Given the description of an element on the screen output the (x, y) to click on. 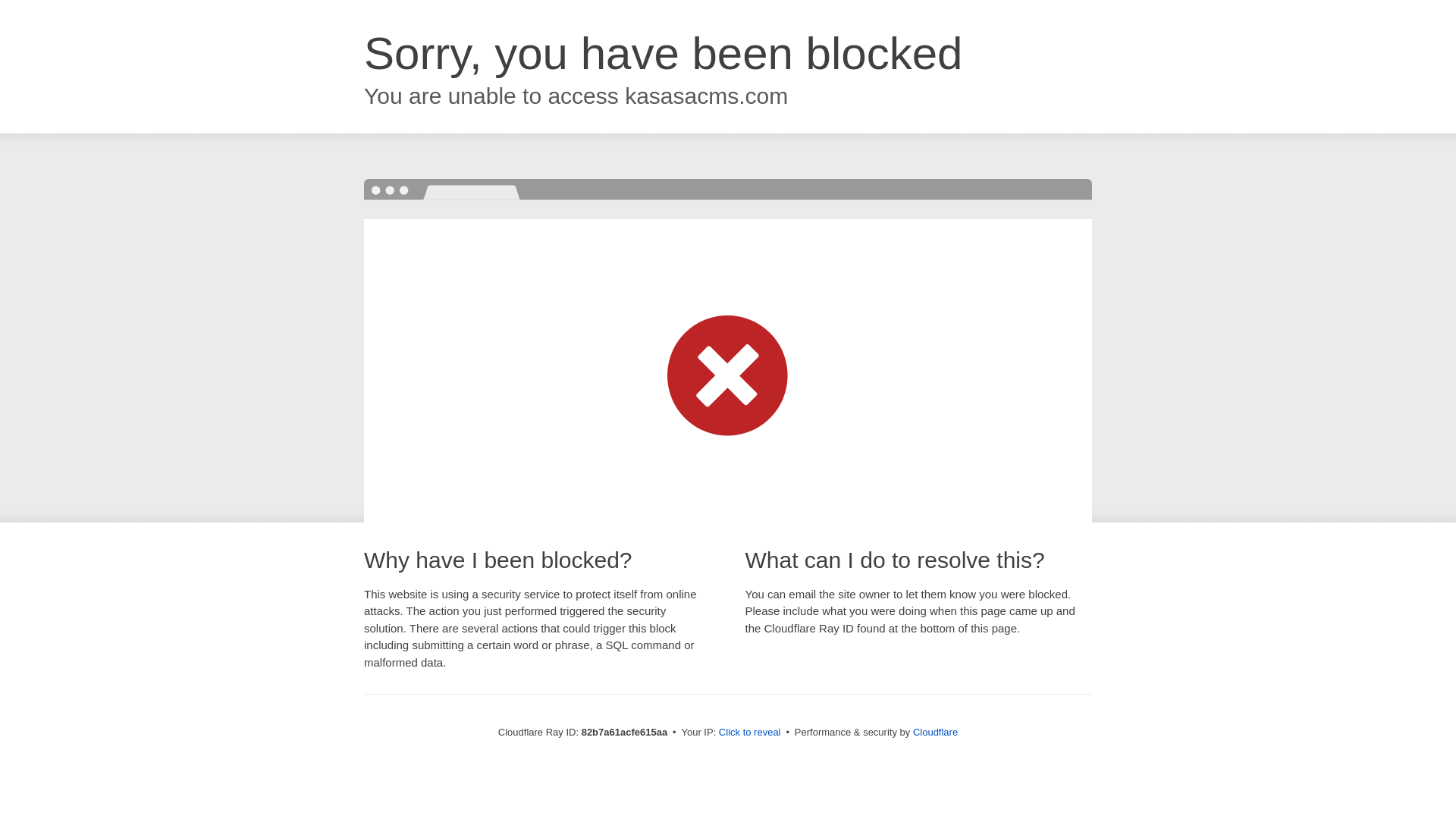
Click to reveal Element type: text (749, 732)
Cloudflare Element type: text (935, 731)
